Given the description of an element on the screen output the (x, y) to click on. 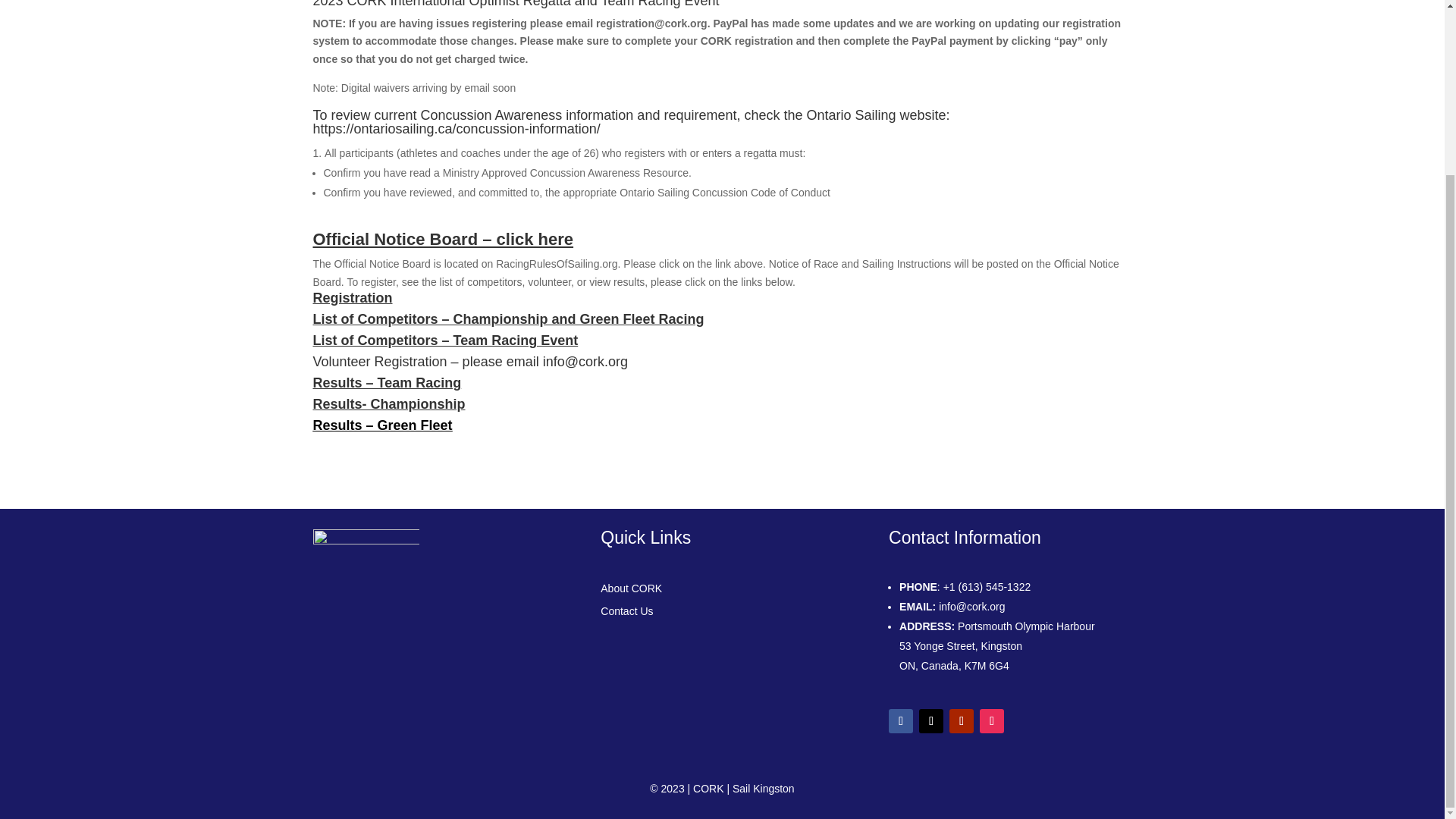
CORKlogo-white (366, 584)
Follow on Facebook (900, 721)
Follow on Youtube (961, 721)
Follow on X (930, 721)
Follow on Instagram (991, 721)
